Given the description of an element on the screen output the (x, y) to click on. 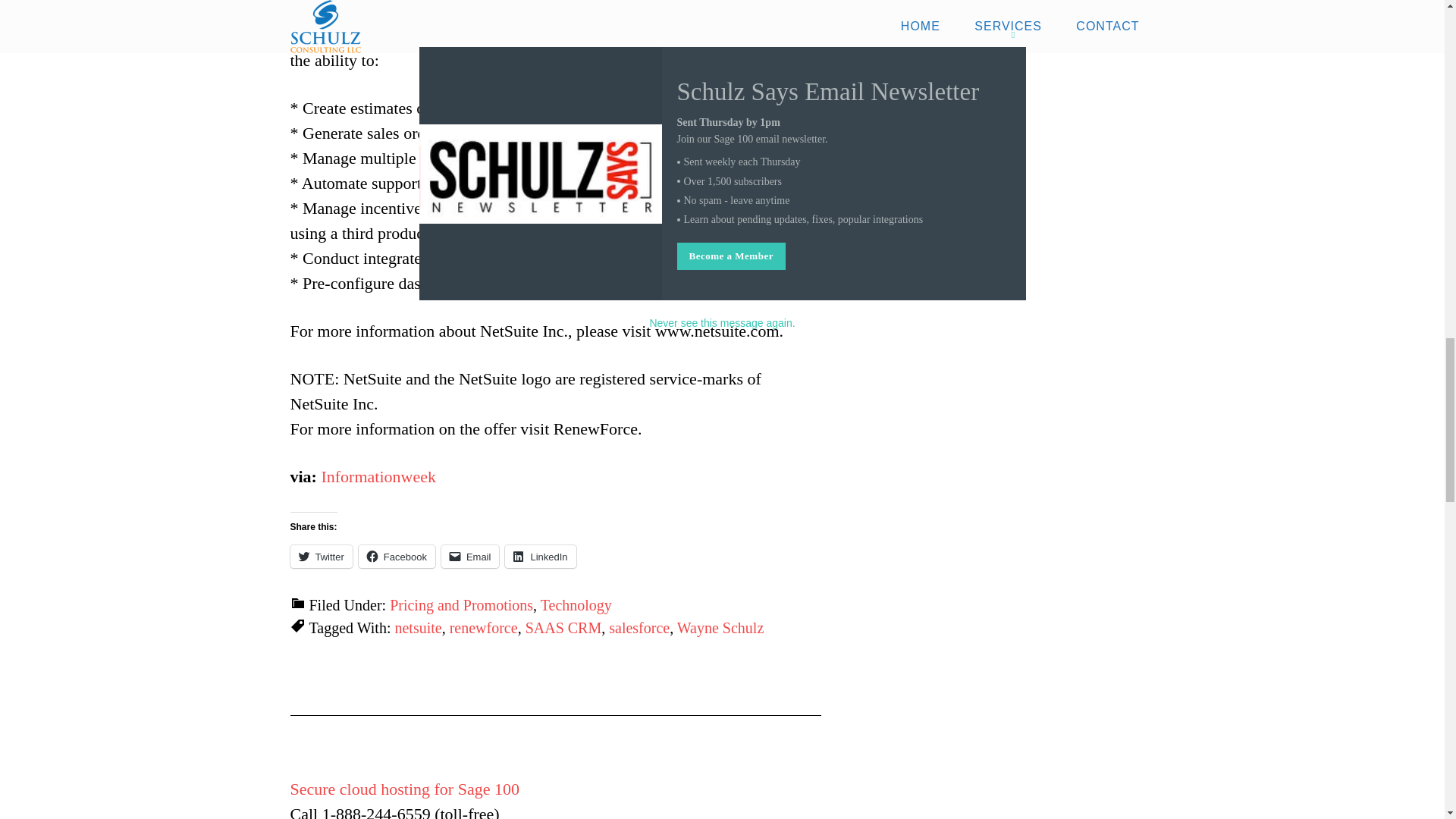
Pricing and Promotions (461, 605)
Secure cloud hosting for Sage 100 (403, 788)
Twitter (320, 556)
renewforce (483, 627)
Facebook (396, 556)
SAAS CRM (563, 627)
salesforce (638, 627)
Technology (575, 605)
netsuite (417, 627)
Informationweek (377, 476)
LinkedIn (540, 556)
Click to share on Facebook (396, 556)
Click to email a link to a friend (470, 556)
Click to share on Twitter (320, 556)
Click to share on LinkedIn (540, 556)
